Given the description of an element on the screen output the (x, y) to click on. 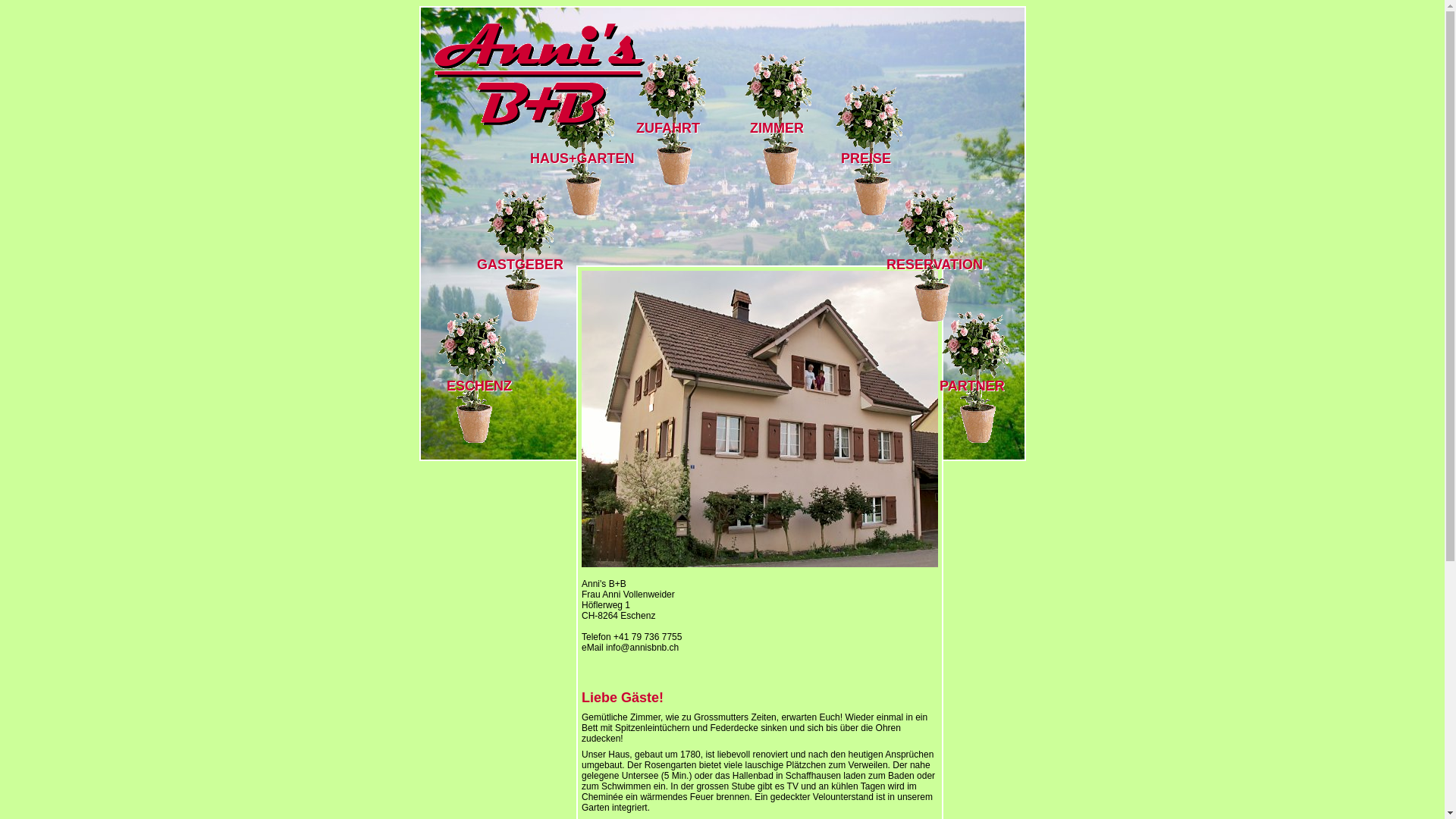
ZUFAHRT Element type: text (667, 127)
PARTNER Element type: text (971, 385)
RESERVATION Element type: text (934, 264)
ESCHENZ Element type: text (478, 385)
ZIMMER Element type: text (776, 127)
PREISE Element type: text (865, 158)
HAUS+GARTEN Element type: text (582, 158)
GASTGEBER Element type: text (519, 264)
